Given the description of an element on the screen output the (x, y) to click on. 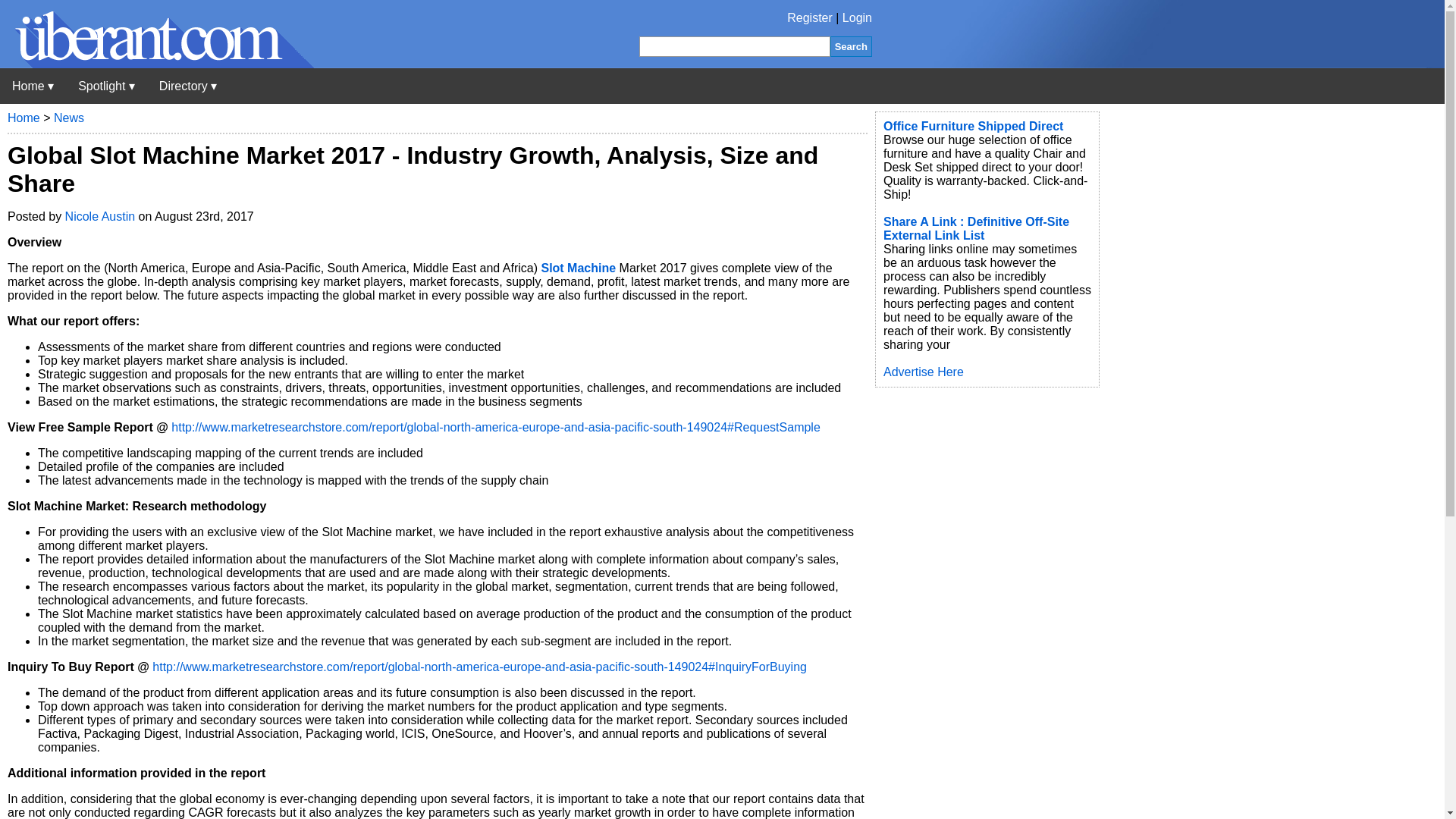
Uberant (157, 63)
Search (850, 46)
Login (857, 17)
Register (809, 17)
Search (850, 46)
Uberant (32, 85)
